Given the description of an element on the screen output the (x, y) to click on. 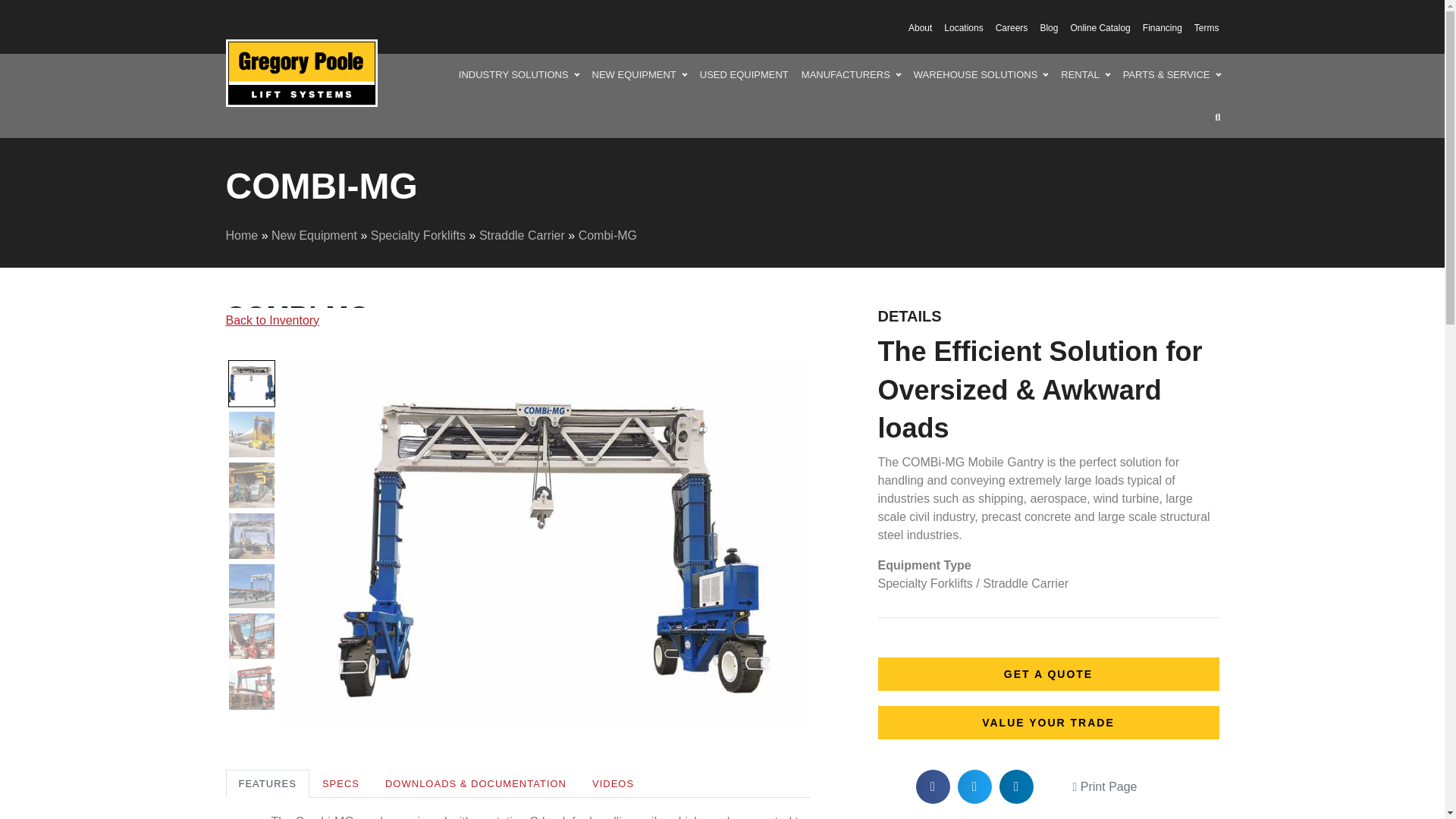
5382e6ec-d2eb-48c4-8061-cfbfd2e2e5f7 (301, 73)
Careers (1005, 27)
INDUSTRY SOLUTIONS (518, 75)
NEW EQUIPMENT (639, 75)
Locations (957, 27)
Financing (1156, 27)
Terms (1201, 27)
USED EQUIPMENT (744, 75)
Online Catalog (1093, 27)
Blog (1042, 27)
MANUFACTURERS (850, 75)
About (913, 27)
